Given the description of an element on the screen output the (x, y) to click on. 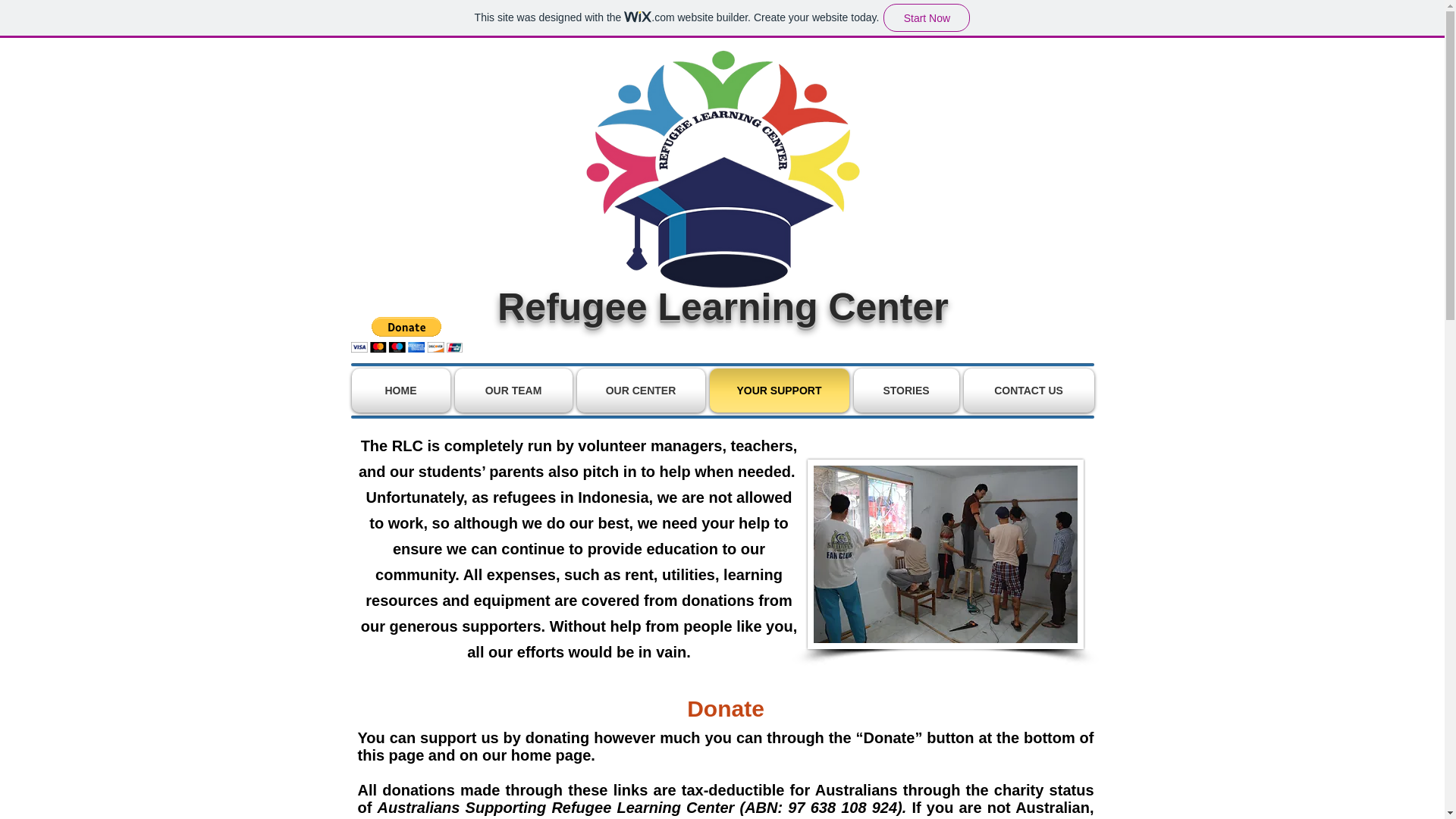
OUR CENTER (641, 390)
STORIES (905, 390)
YOUR SUPPORT (778, 390)
HOME (402, 390)
Photo by: Abdullah Sarwari (944, 554)
CONTACT US (1027, 390)
OUR TEAM (512, 390)
